Given the description of an element on the screen output the (x, y) to click on. 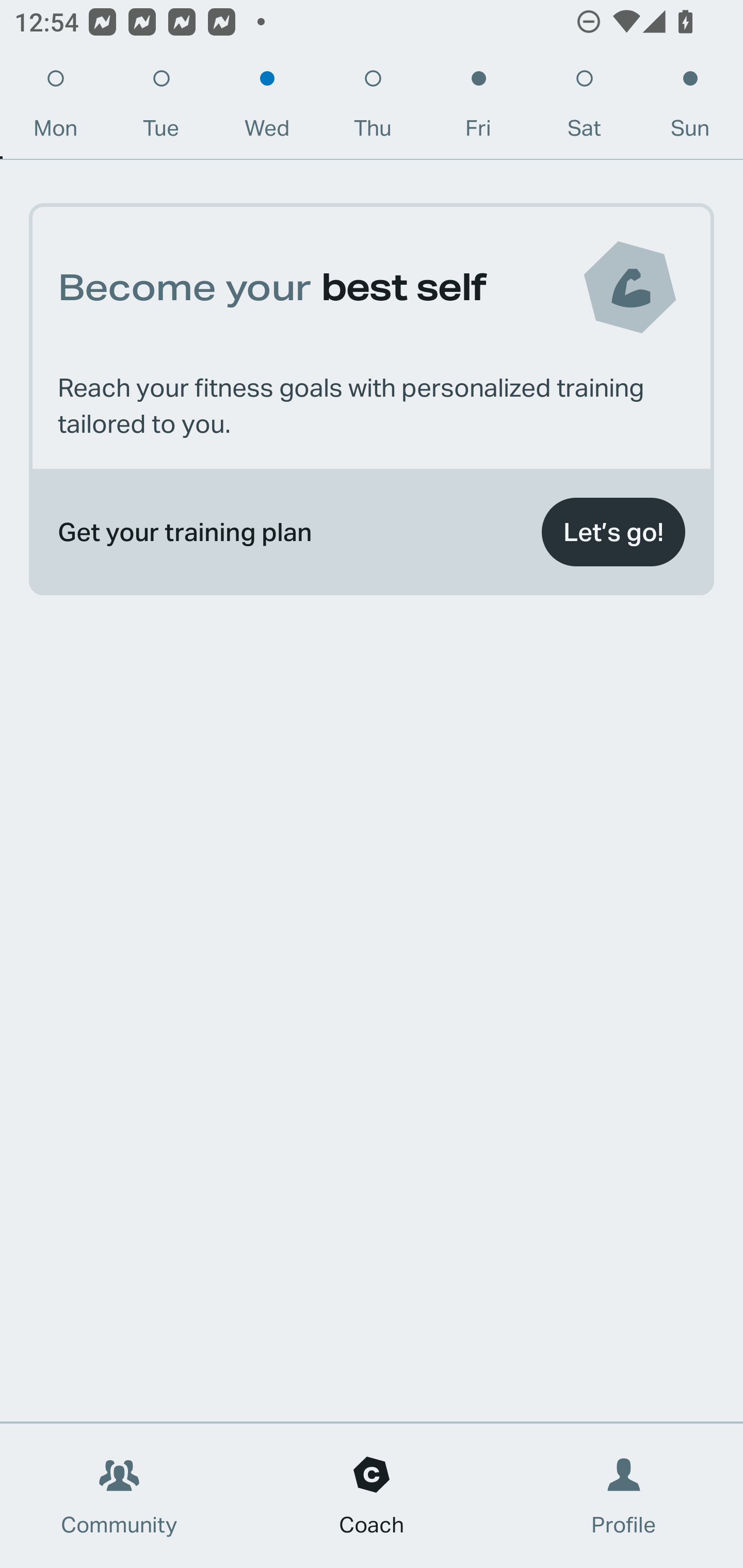
Mon (55, 108)
Tue (160, 108)
Wed (266, 108)
Thu (372, 108)
Fri (478, 108)
Sat (584, 108)
Sun (690, 108)
Let’s go! (613, 532)
Community (119, 1495)
Profile (624, 1495)
